Given the description of an element on the screen output the (x, y) to click on. 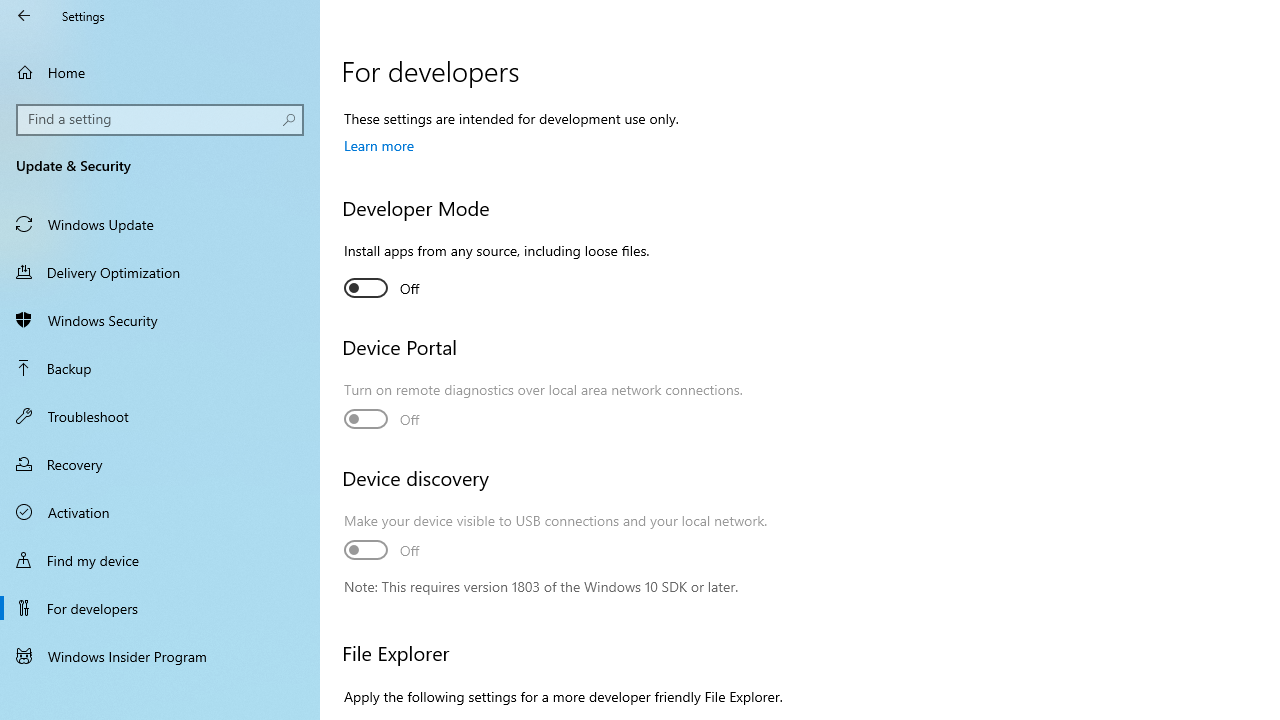
Windows Update (160, 223)
Troubleshoot (160, 415)
